Given the description of an element on the screen output the (x, y) to click on. 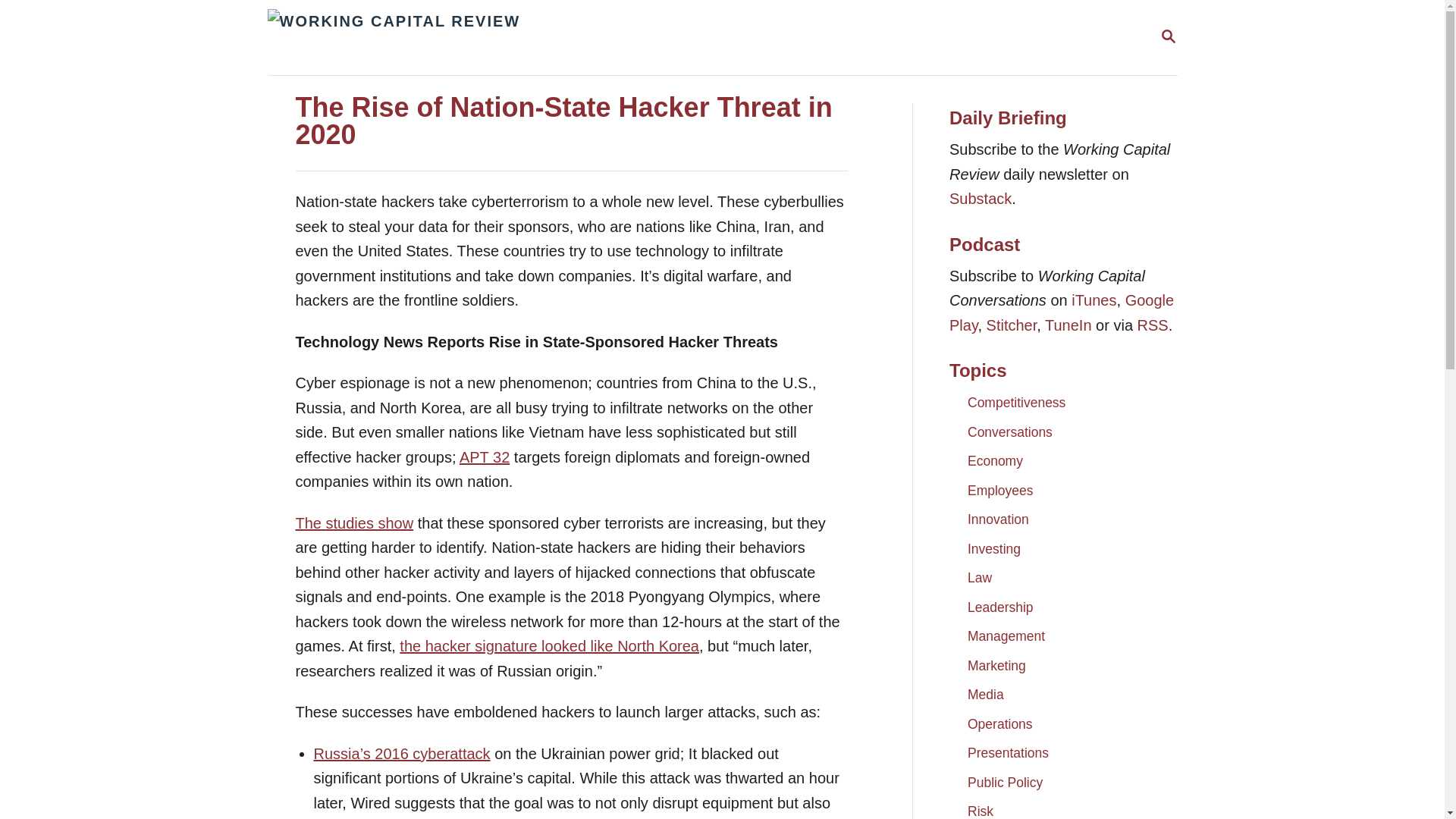
Working Capital Review (541, 37)
Innovation (997, 519)
Media (985, 694)
Substack (980, 198)
Marketing (996, 665)
Economy (995, 460)
Management (1005, 635)
Stitcher (1011, 324)
MAGNIFYING GLASS (1167, 37)
Presentations (1167, 36)
TuneIn (1008, 752)
The studies show (1068, 324)
Leadership (354, 522)
the hacker signature looked like North Korea (1000, 606)
